Given the description of an element on the screen output the (x, y) to click on. 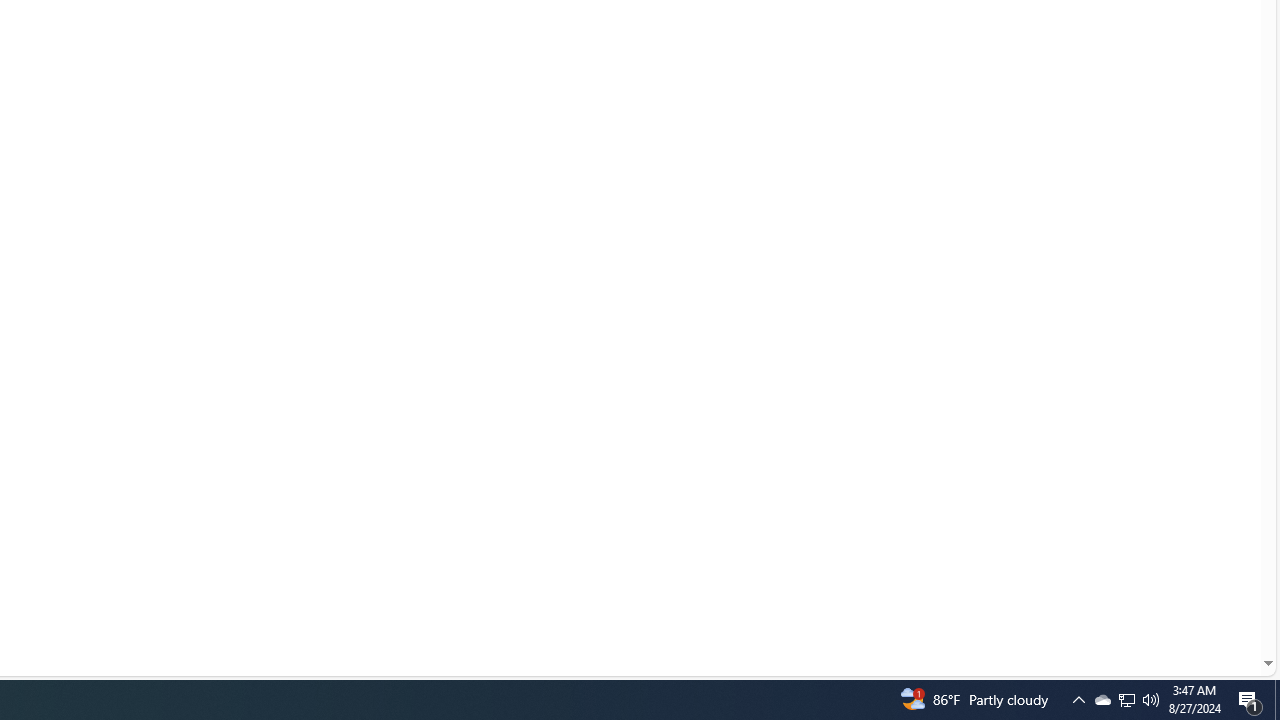
Search more (1222, 604)
AutomationID: mfa_root (1192, 603)
